Given the description of an element on the screen output the (x, y) to click on. 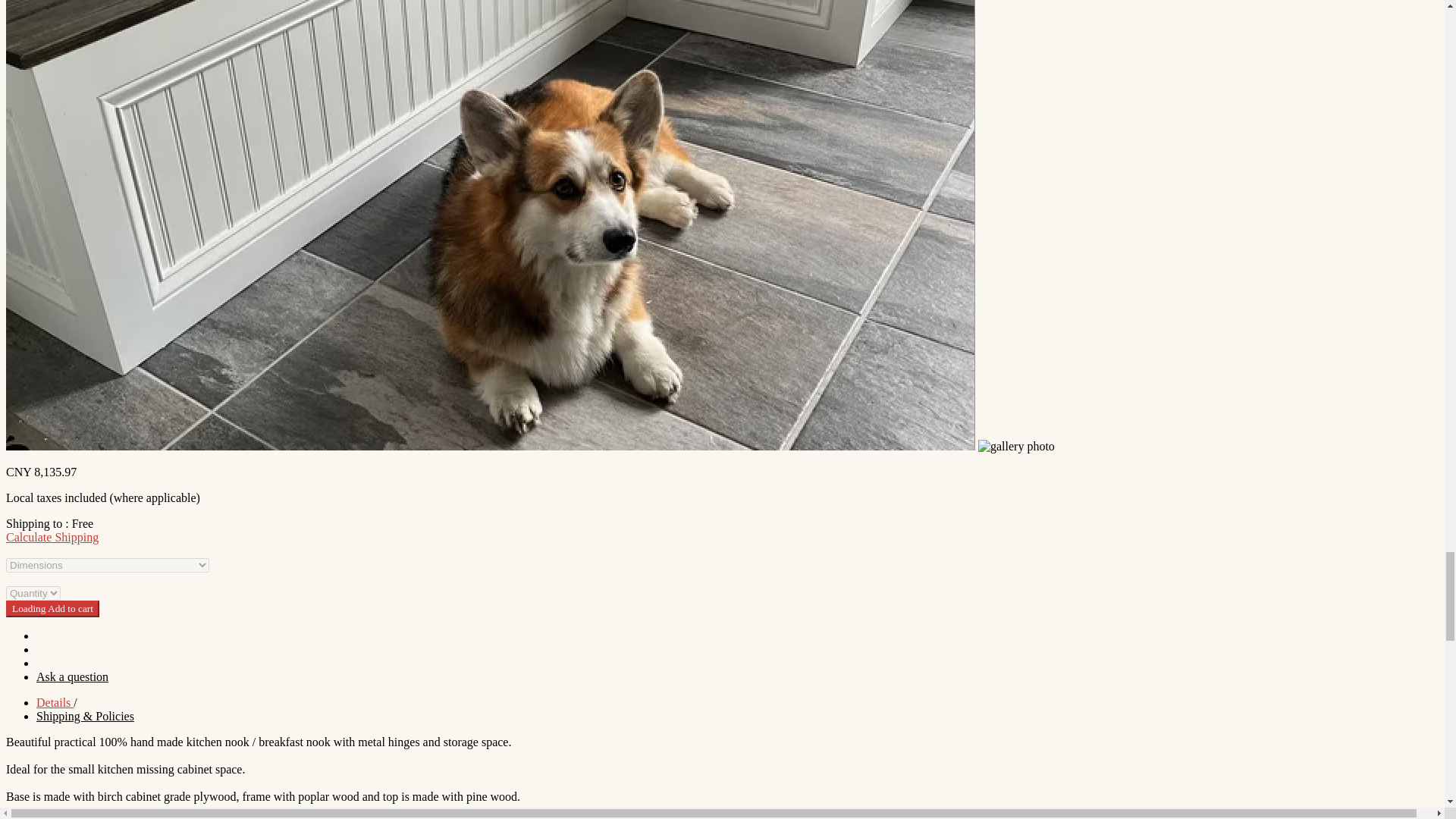
Details (55, 702)
Calculate Shipping (52, 536)
Loading Add to cart (52, 608)
Ask a question (71, 676)
